Given the description of an element on the screen output the (x, y) to click on. 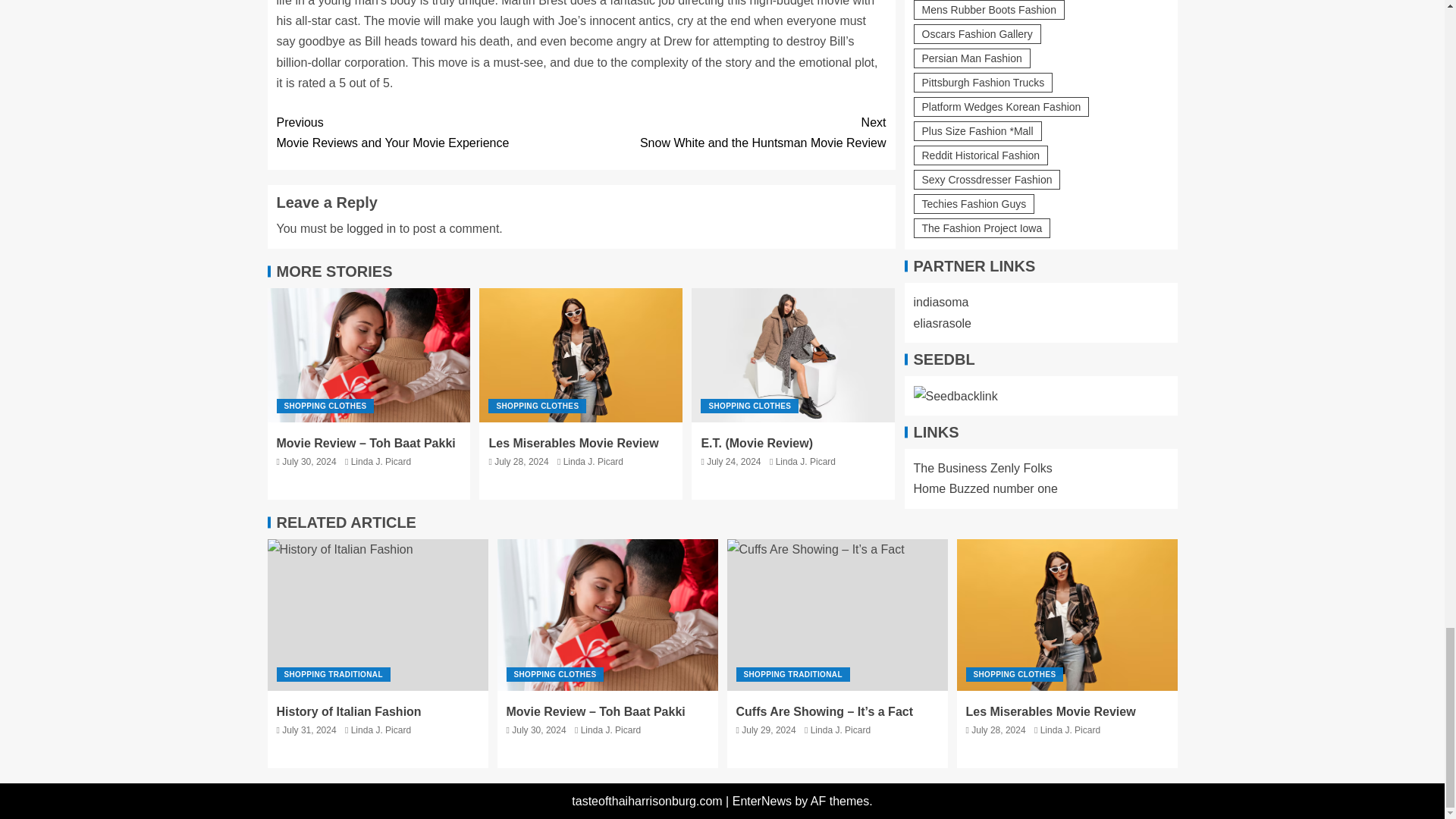
History of Italian Fashion (376, 614)
Linda J. Picard (380, 461)
SHOPPING CLOTHES (748, 405)
Les Miserables Movie Review (580, 355)
SHOPPING CLOTHES (325, 405)
Linda J. Picard (593, 461)
SHOPPING CLOTHES (536, 405)
logged in (371, 228)
Les Miserables Movie Review (572, 442)
Linda J. Picard (805, 461)
